Given the description of an element on the screen output the (x, y) to click on. 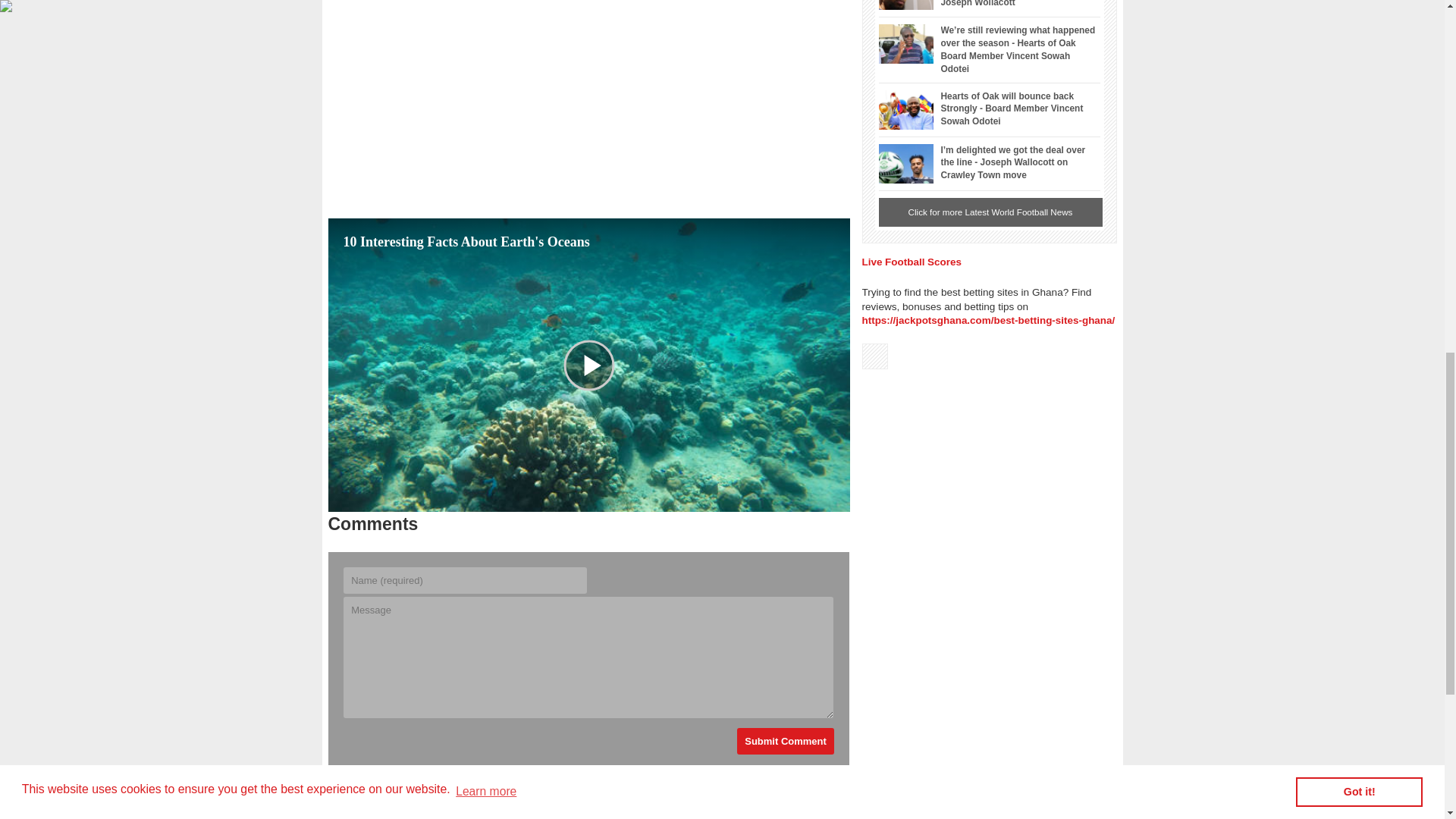
Submit Comment (785, 741)
